Given the description of an element on the screen output the (x, y) to click on. 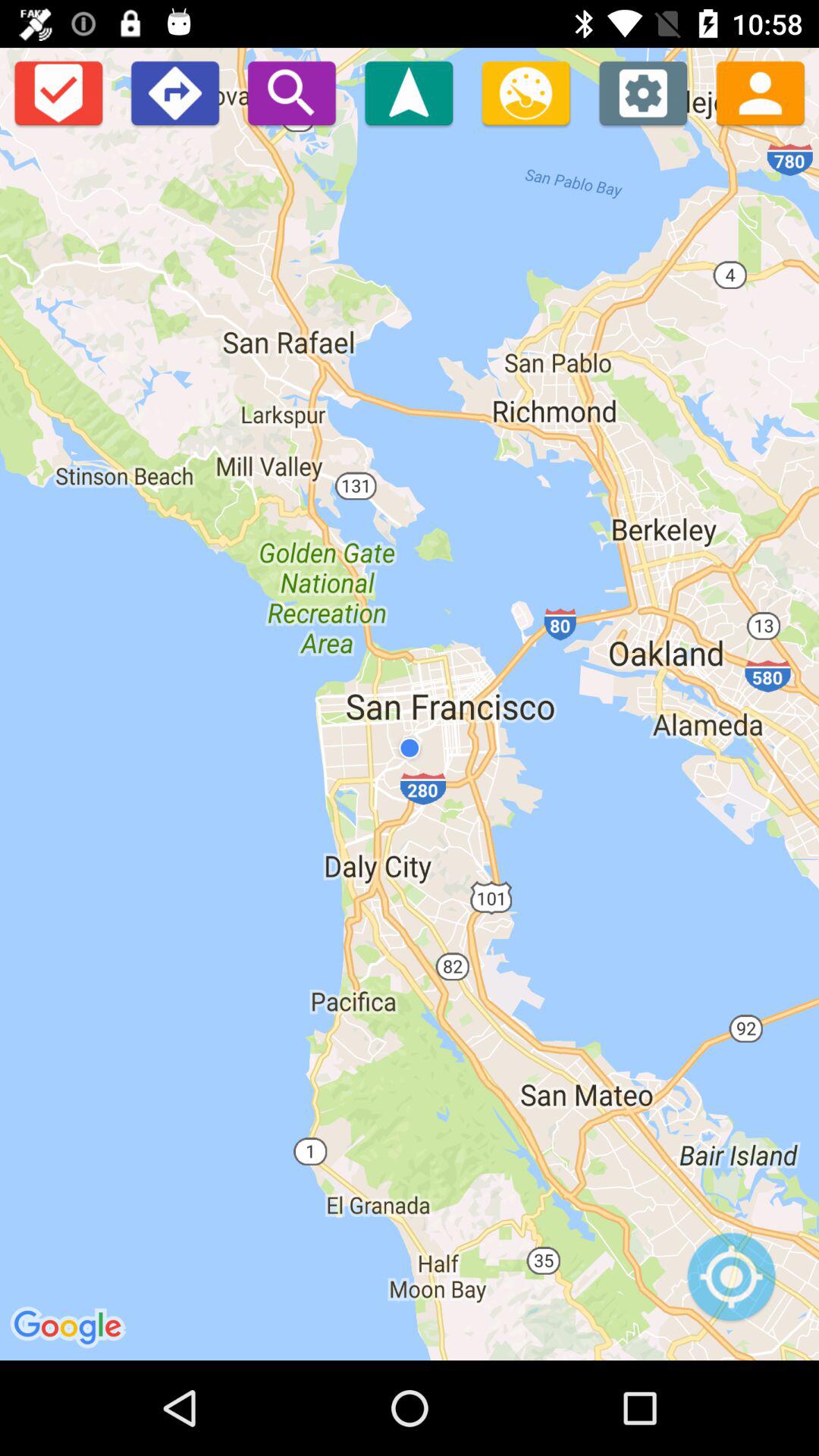
go back (174, 92)
